Given the description of an element on the screen output the (x, y) to click on. 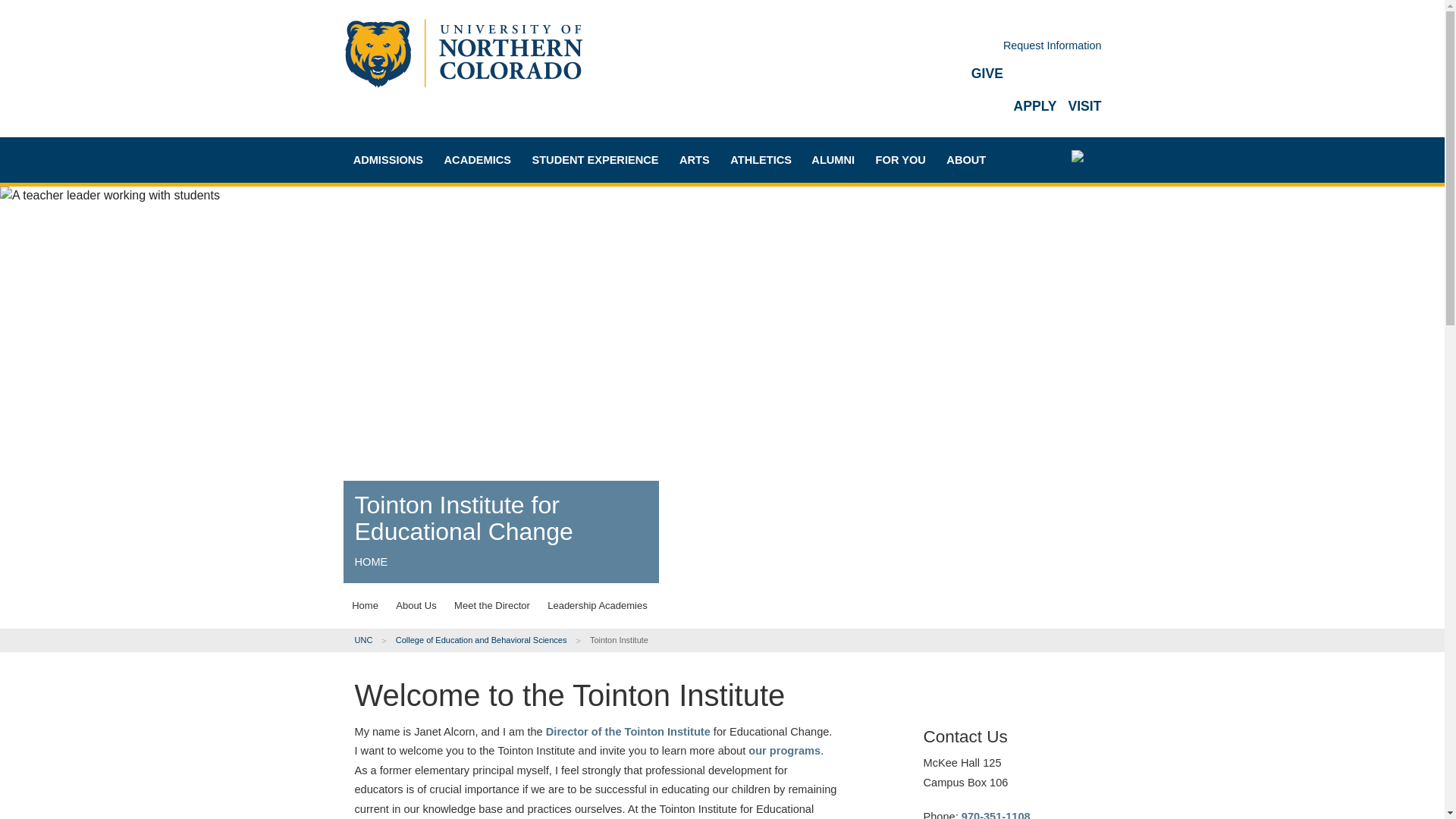
APPLY (1035, 105)
VISIT (1083, 105)
International (418, 307)
Schedule of Classes (509, 366)
Graduate Programs (509, 260)
Bookstore (509, 393)
Academic Overview (509, 207)
Education Abroad (509, 313)
Research (509, 419)
Library (509, 446)
